Given the description of an element on the screen output the (x, y) to click on. 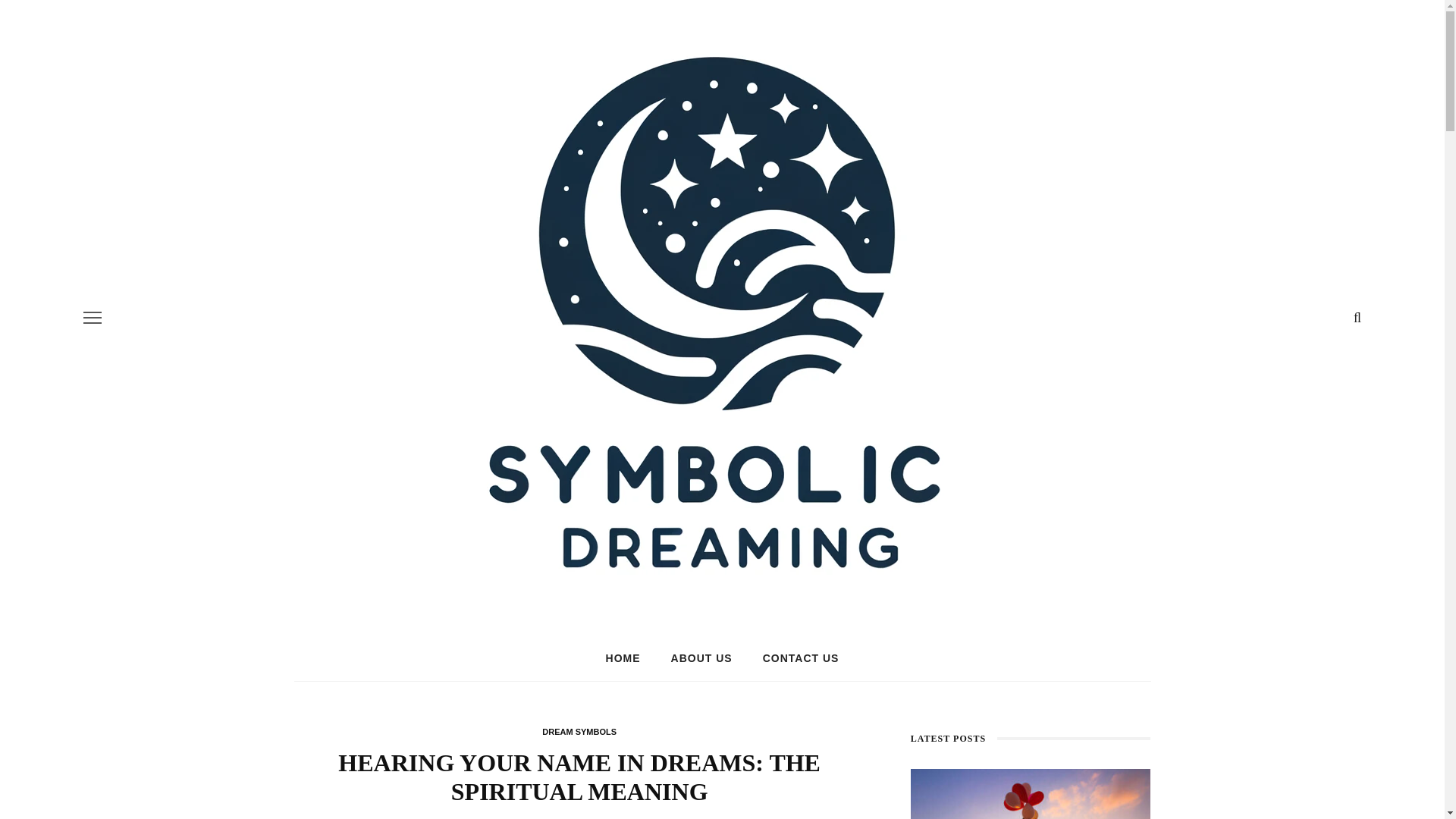
off canvas button (91, 317)
DREAM SYMBOLS (578, 731)
HOME (623, 657)
CONTACT US (801, 657)
ABOUT US (702, 657)
